Given the description of an element on the screen output the (x, y) to click on. 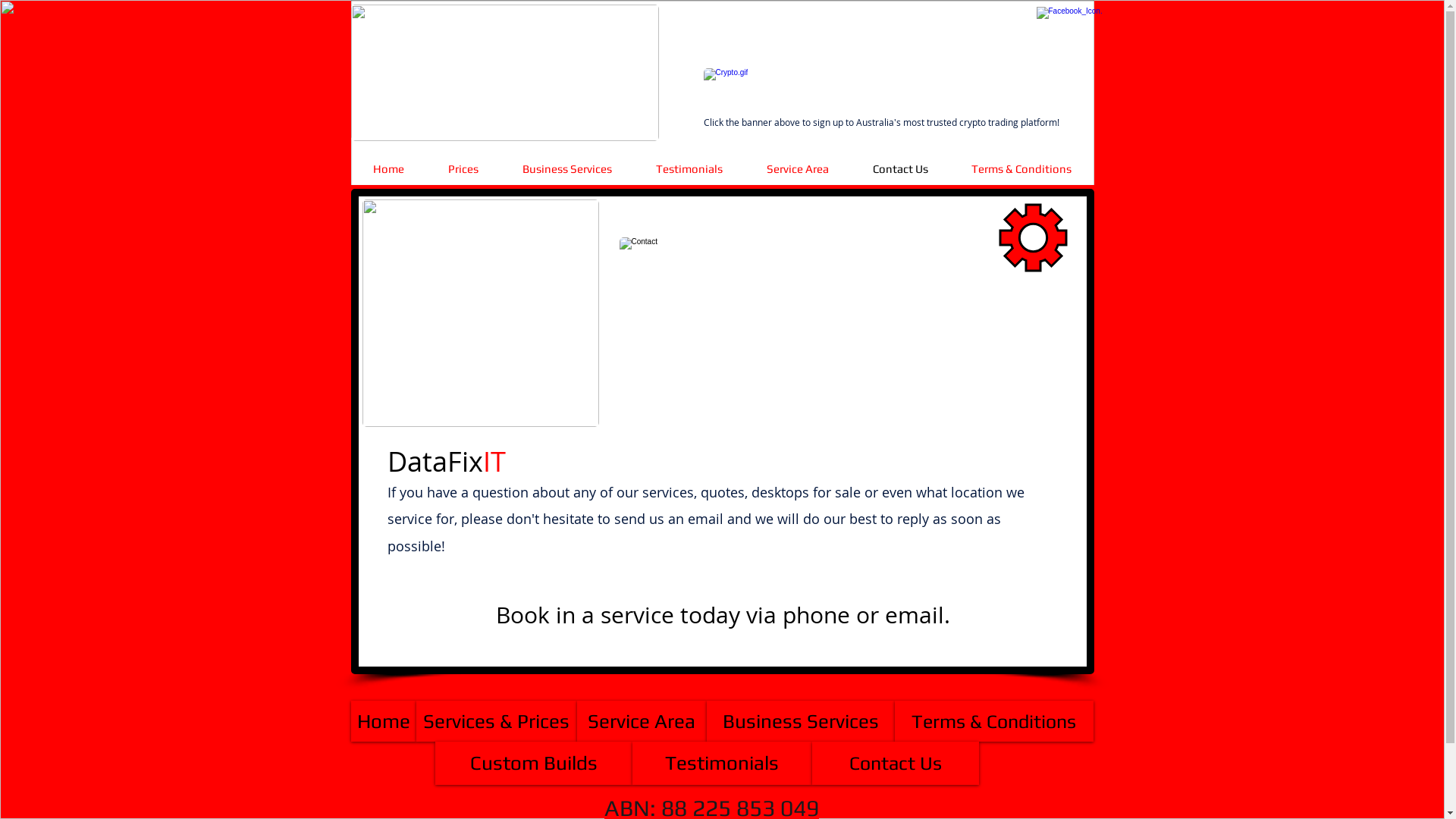
Embedded Content Element type: hover (748, 30)
Business Services Element type: text (566, 168)
Contact Us Element type: text (900, 168)
Testimonials Element type: text (688, 168)
Service Area Element type: text (641, 720)
Testimonials Element type: text (722, 762)
Service Area Element type: text (797, 168)
Prices Element type: text (463, 168)
Embedded Content Element type: hover (721, 147)
Custom Builds Element type: text (533, 762)
Home Element type: text (382, 720)
Terms & Conditions Element type: text (1020, 168)
Contact Us Element type: text (894, 762)
Home Element type: text (387, 168)
Services & Prices Element type: text (495, 720)
Terms & Conditions Element type: text (993, 720)
Business Services Element type: text (800, 720)
